Given the description of an element on the screen output the (x, y) to click on. 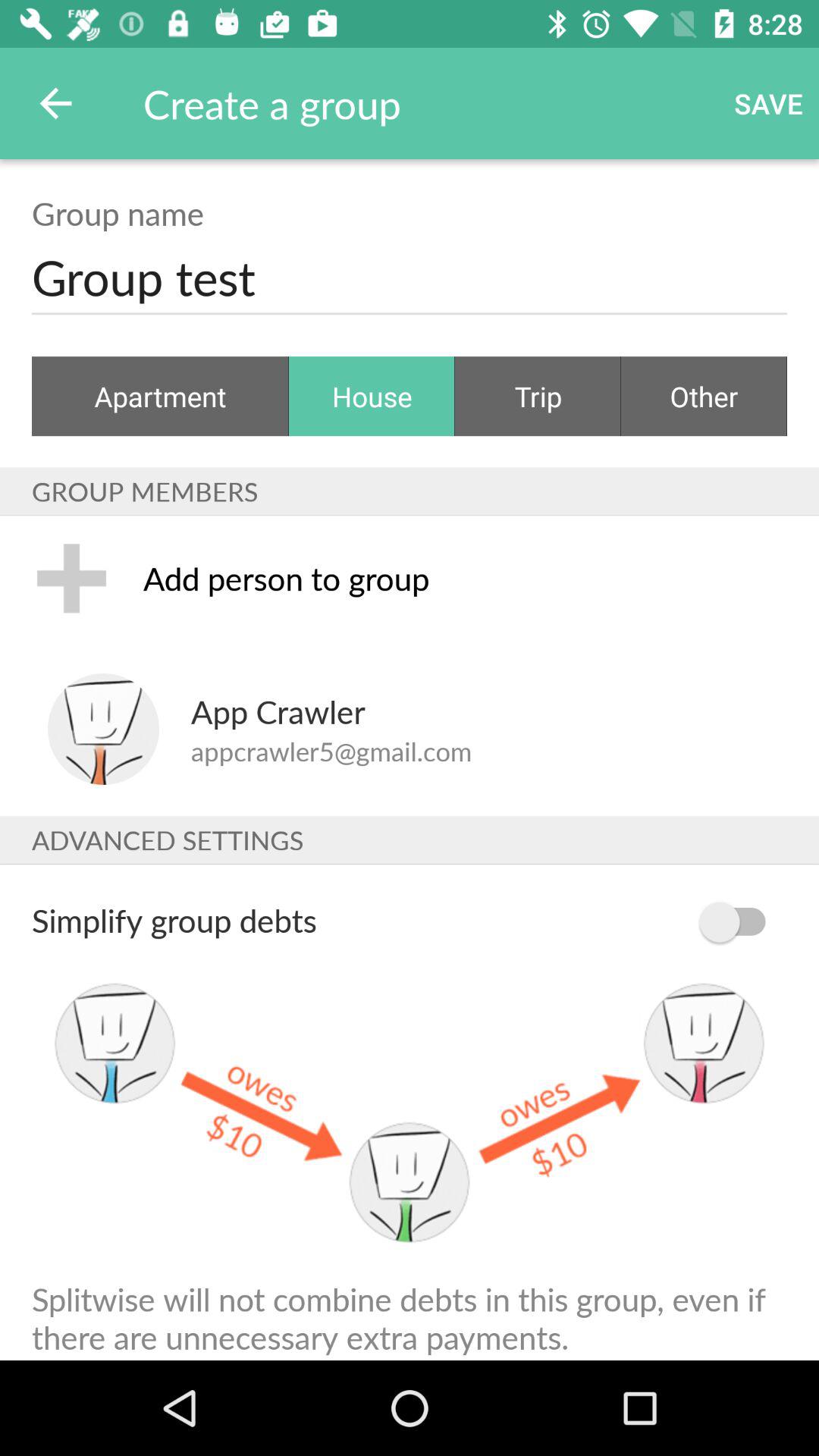
choose item next to the other icon (538, 396)
